Given the description of an element on the screen output the (x, y) to click on. 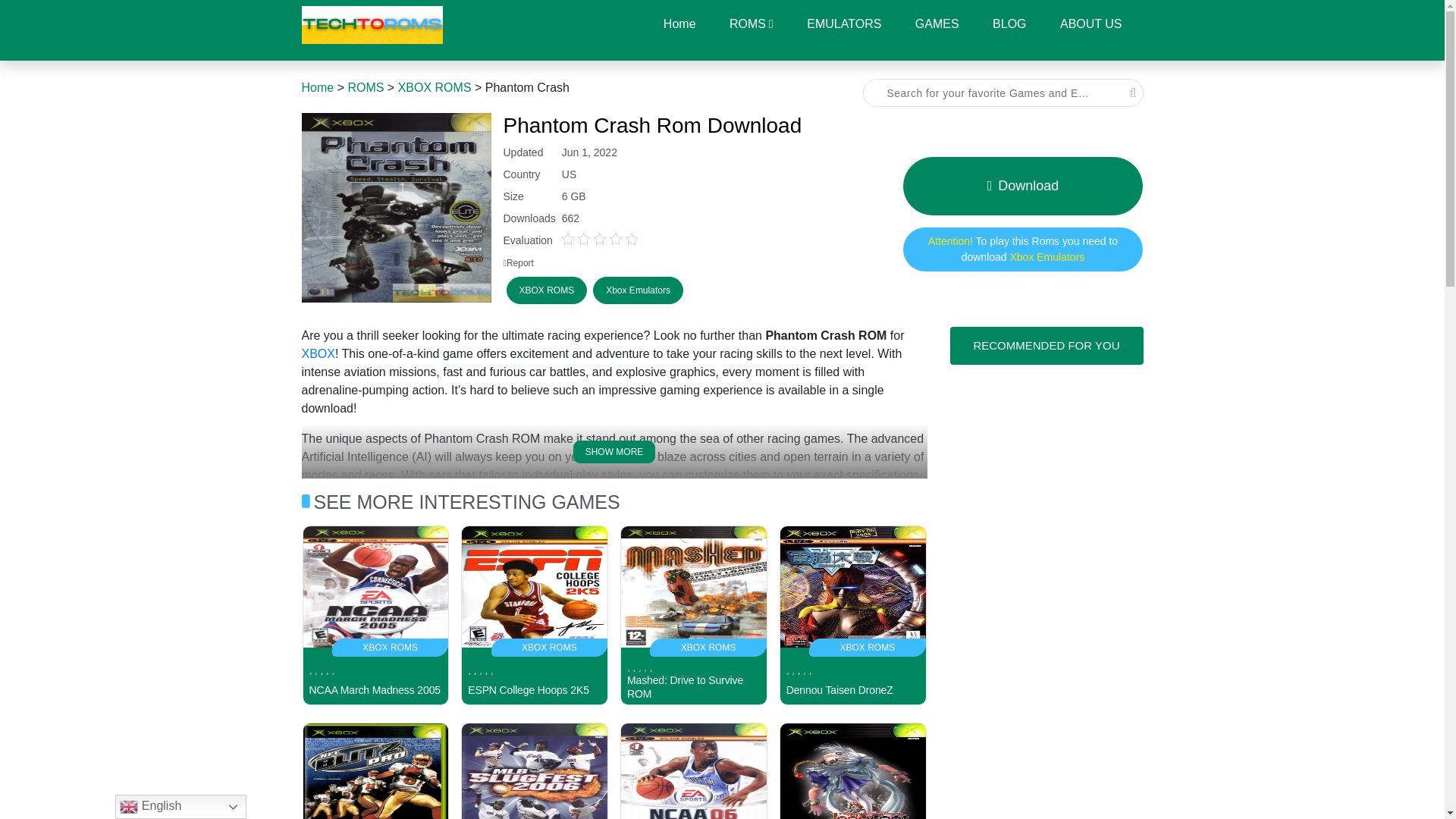
XBOX ROMS (434, 87)
Download (1022, 185)
GAMES (936, 23)
ABOUT US (1091, 23)
Xbox Emulators (1022, 249)
BLOG (852, 770)
MLB SlugFest 2006 (1008, 23)
XBOX ROMS (534, 770)
